Given the description of an element on the screen output the (x, y) to click on. 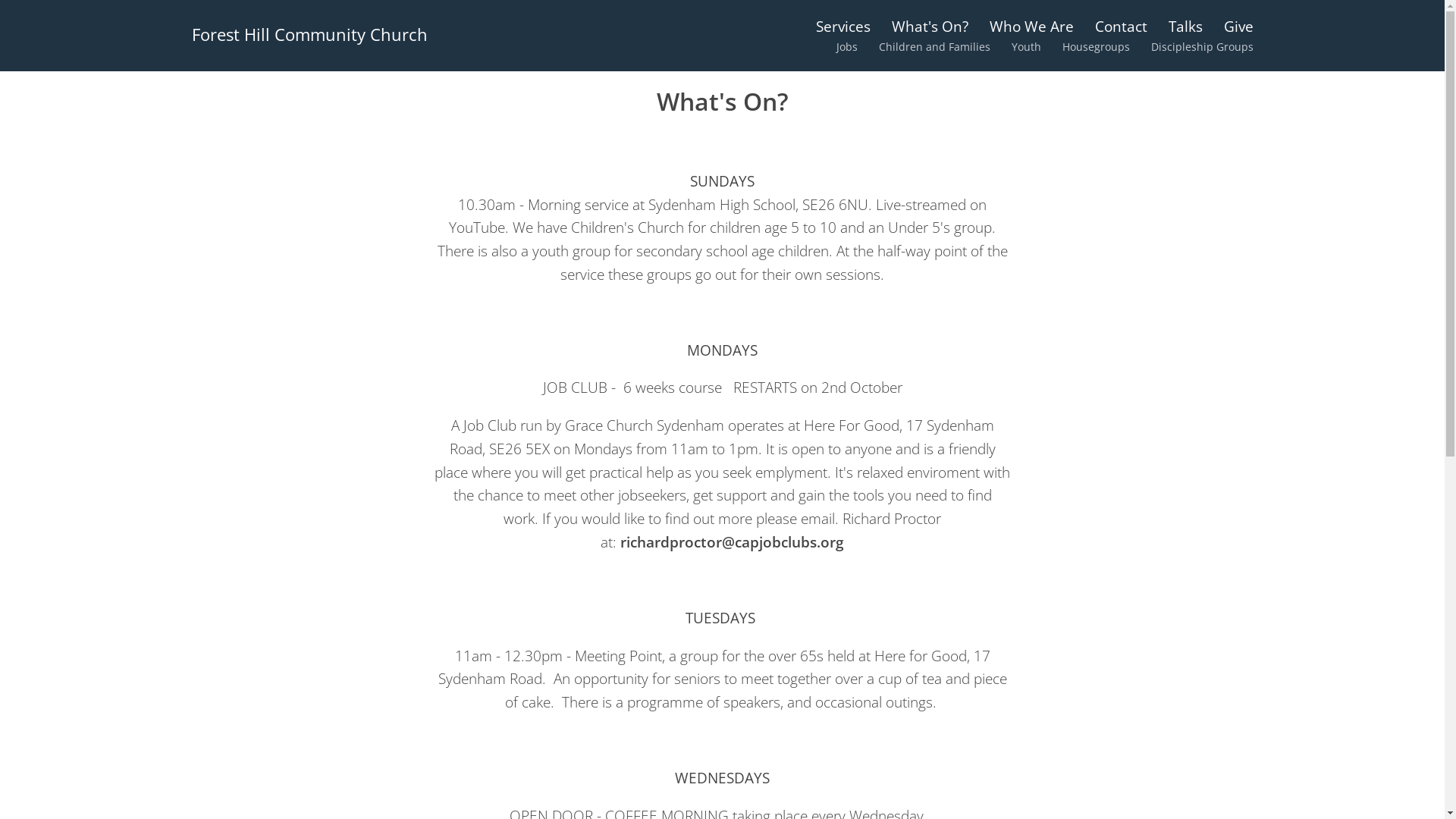
Children and Families Element type: text (933, 46)
richardproctor@capjobclubs.org Element type: text (732, 541)
Talks Element type: text (1184, 25)
Who We Are Element type: text (1030, 25)
Forest Hill Community Church Element type: text (308, 34)
Give Element type: text (1238, 25)
Services Element type: text (842, 25)
Contact Element type: text (1121, 25)
What's On? Element type: text (929, 25)
Youth Element type: text (1026, 46)
Jobs Element type: text (845, 46)
Discipleship Groups Element type: text (1202, 46)
Housegroups Element type: text (1095, 46)
